Given the description of an element on the screen output the (x, y) to click on. 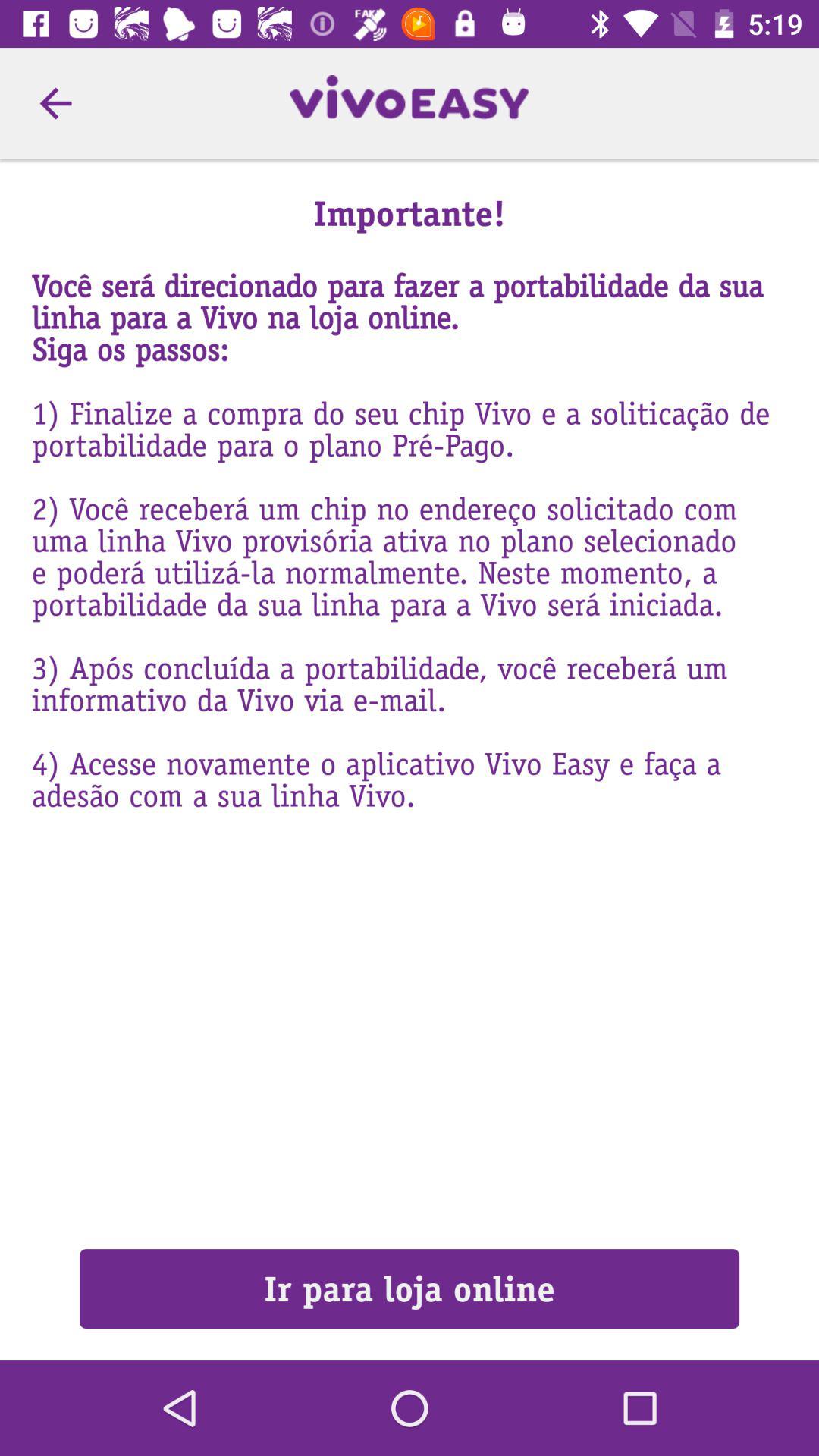
launch icon to the left of importante! item (55, 103)
